Given the description of an element on the screen output the (x, y) to click on. 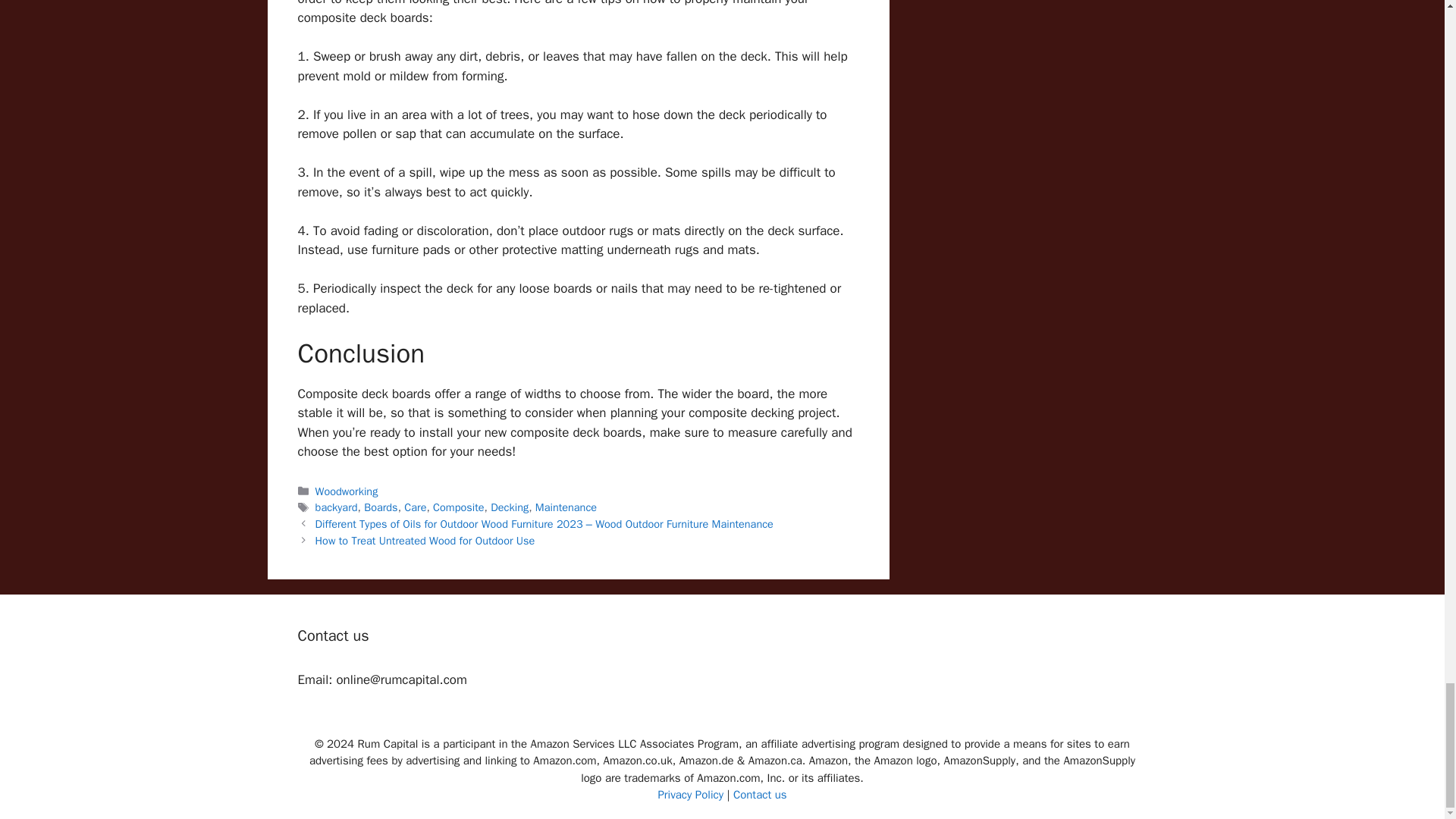
Decking (509, 507)
Privacy Policy (690, 794)
backyard (336, 507)
Contact us (760, 794)
Composite (457, 507)
How to Treat Untreated Wood for Outdoor Use (425, 540)
Maintenance (565, 507)
Boards (380, 507)
Care (415, 507)
Woodworking (346, 490)
